Given the description of an element on the screen output the (x, y) to click on. 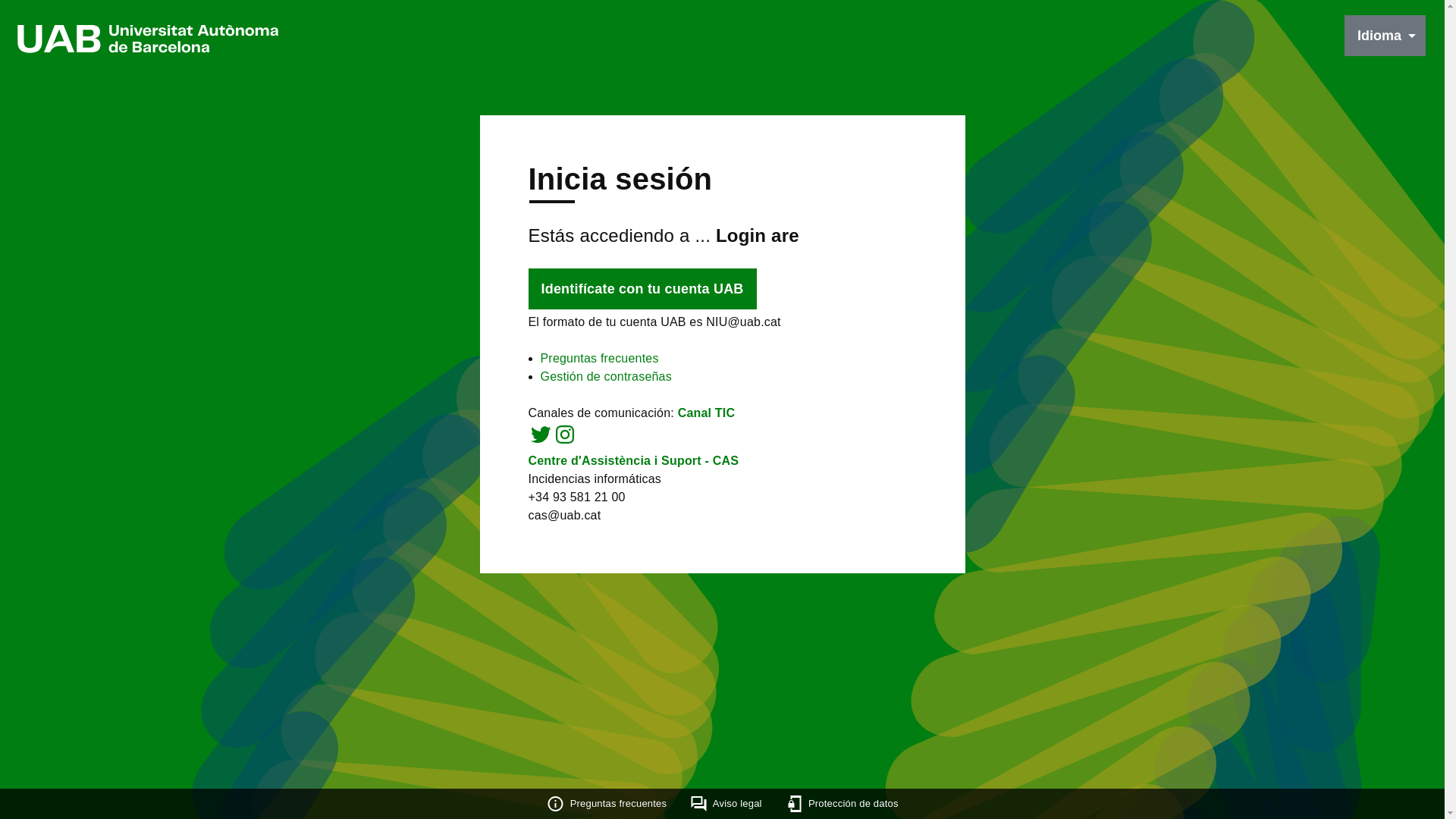
Idioma Element type: text (1384, 35)
Preguntas frecuentes Element type: text (598, 357)
Canal TIC Element type: text (706, 412)
